Given the description of an element on the screen output the (x, y) to click on. 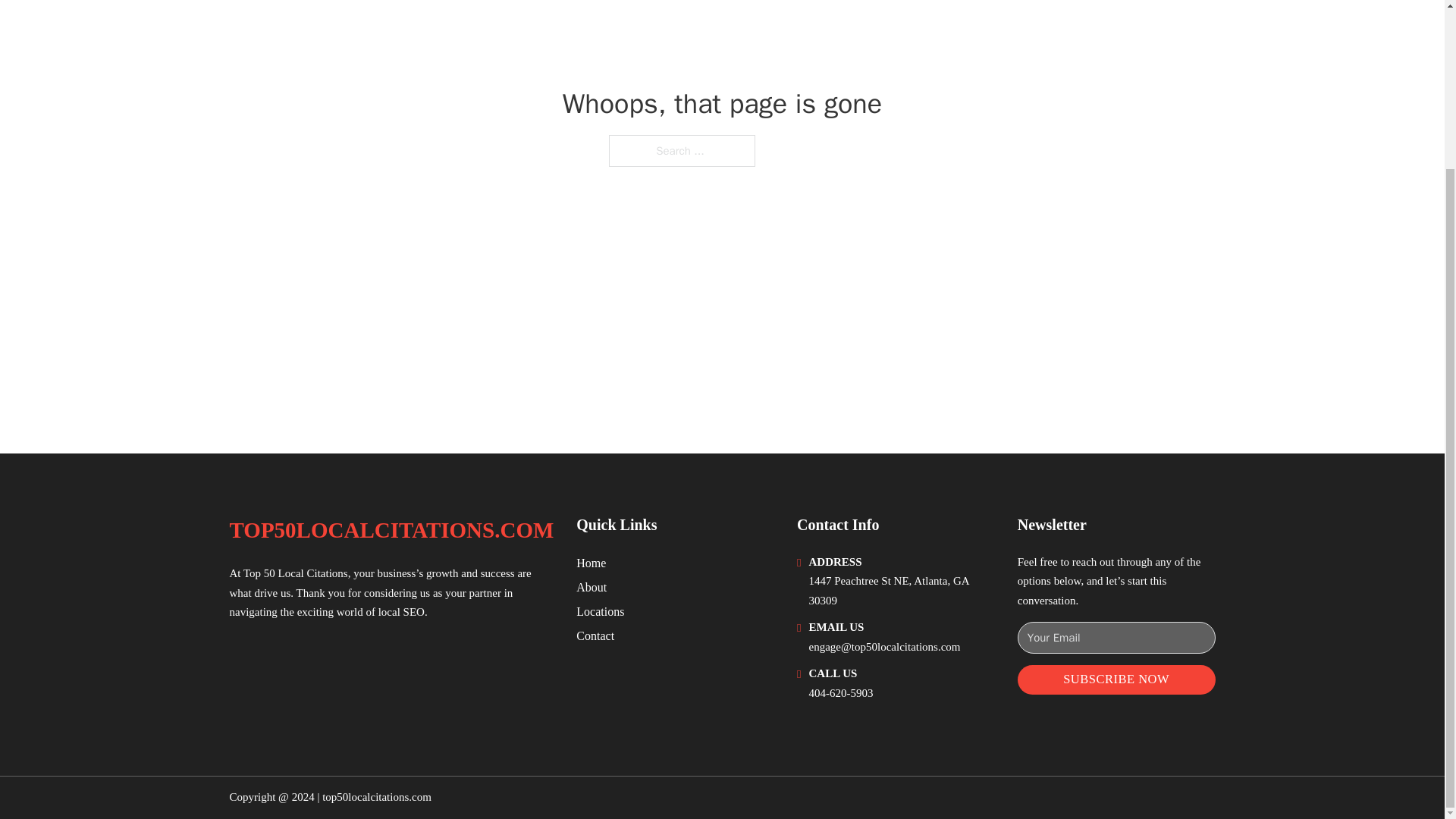
Locations (600, 611)
SUBSCRIBE NOW (1116, 679)
404-620-5903 (841, 693)
Home (590, 562)
About (591, 587)
Contact (595, 635)
TOP50LOCALCITATIONS.COM (390, 529)
